Given the description of an element on the screen output the (x, y) to click on. 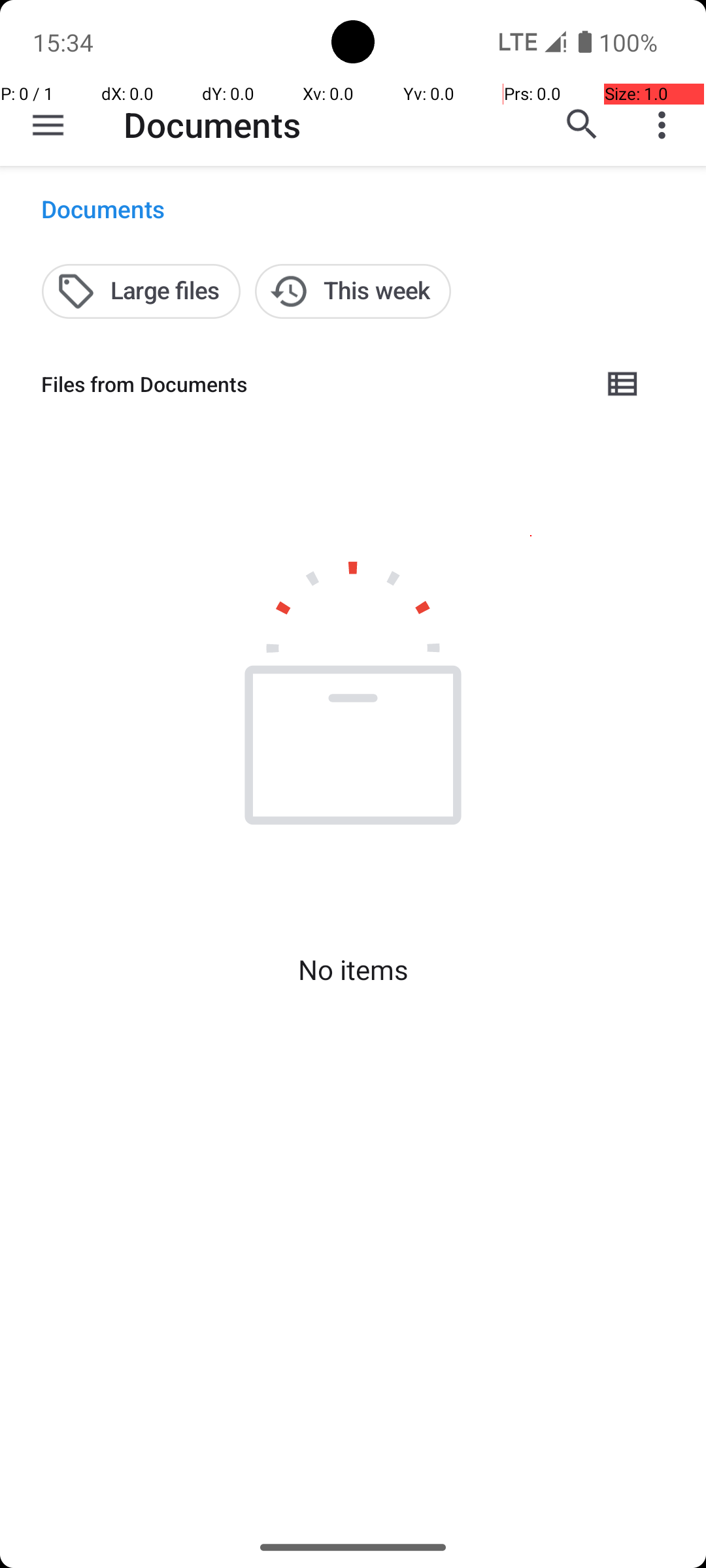
Files from Documents Element type: android.widget.TextView (311, 383)
